Given the description of an element on the screen output the (x, y) to click on. 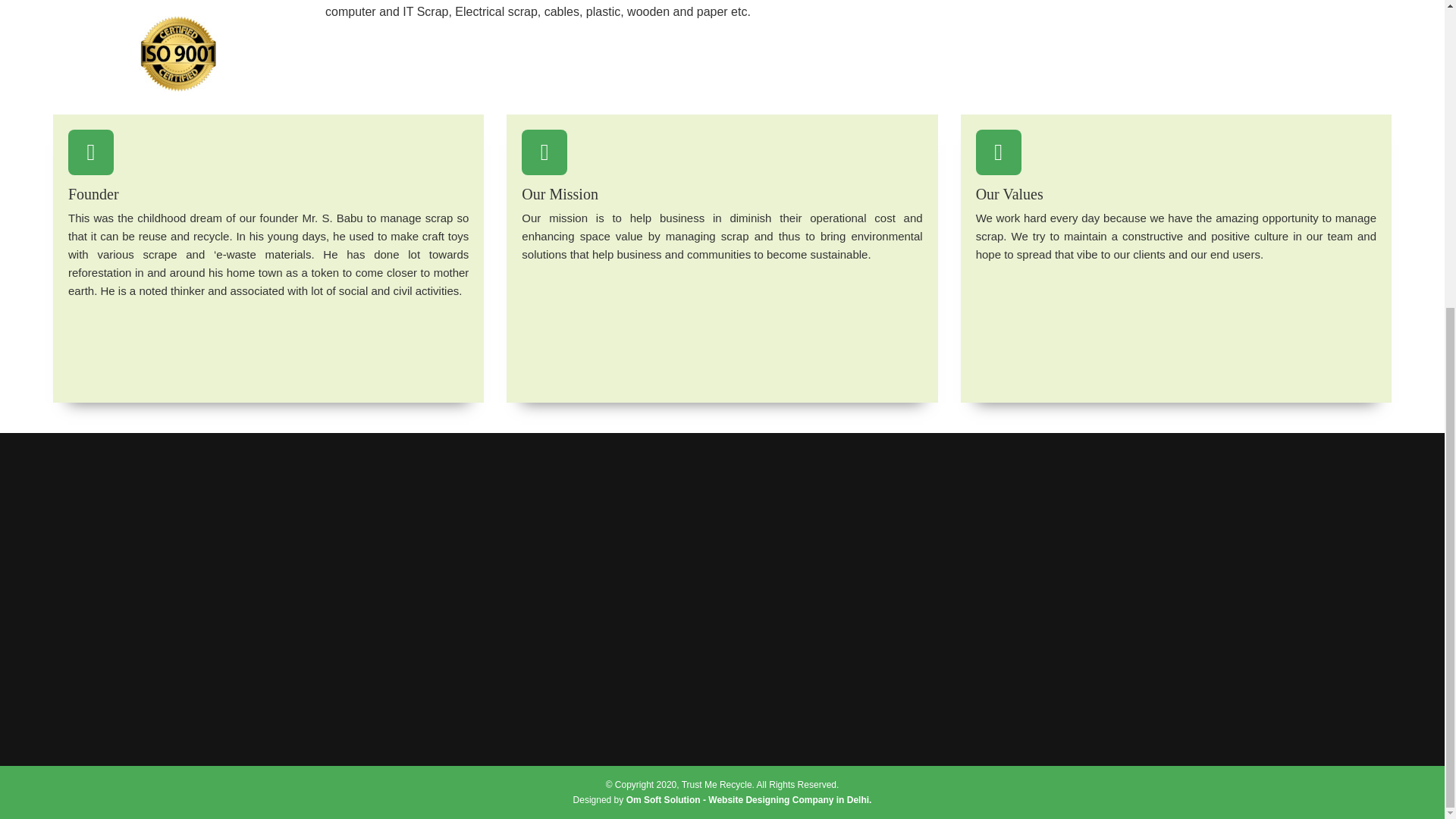
Om Soft Solution - Website Designing Company in Delhi. (749, 799)
